Given the description of an element on the screen output the (x, y) to click on. 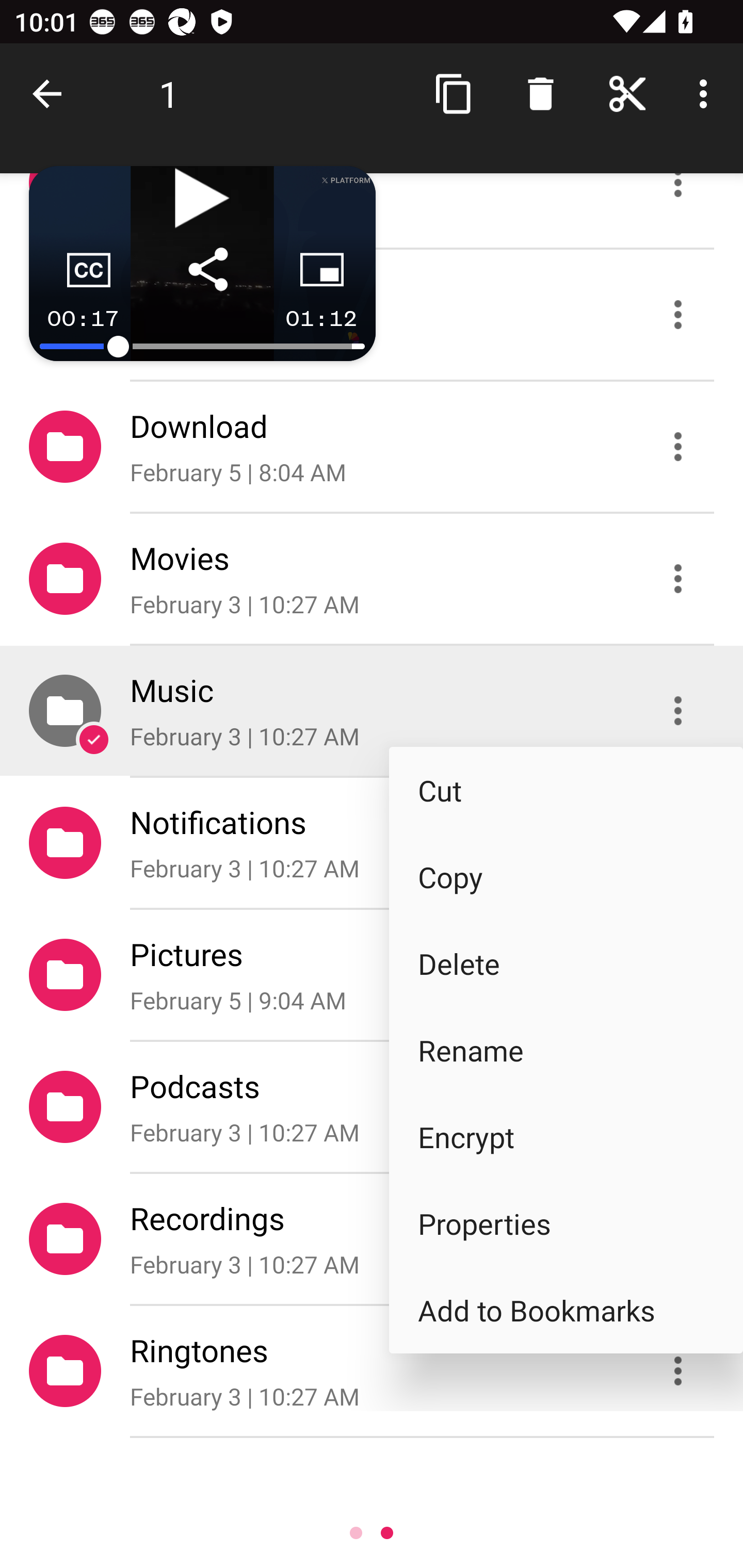
Cut (566, 790)
Copy (566, 877)
Delete (566, 963)
Rename (566, 1049)
Encrypt (566, 1136)
Properties (566, 1223)
Add to Bookmarks (566, 1309)
